Given the description of an element on the screen output the (x, y) to click on. 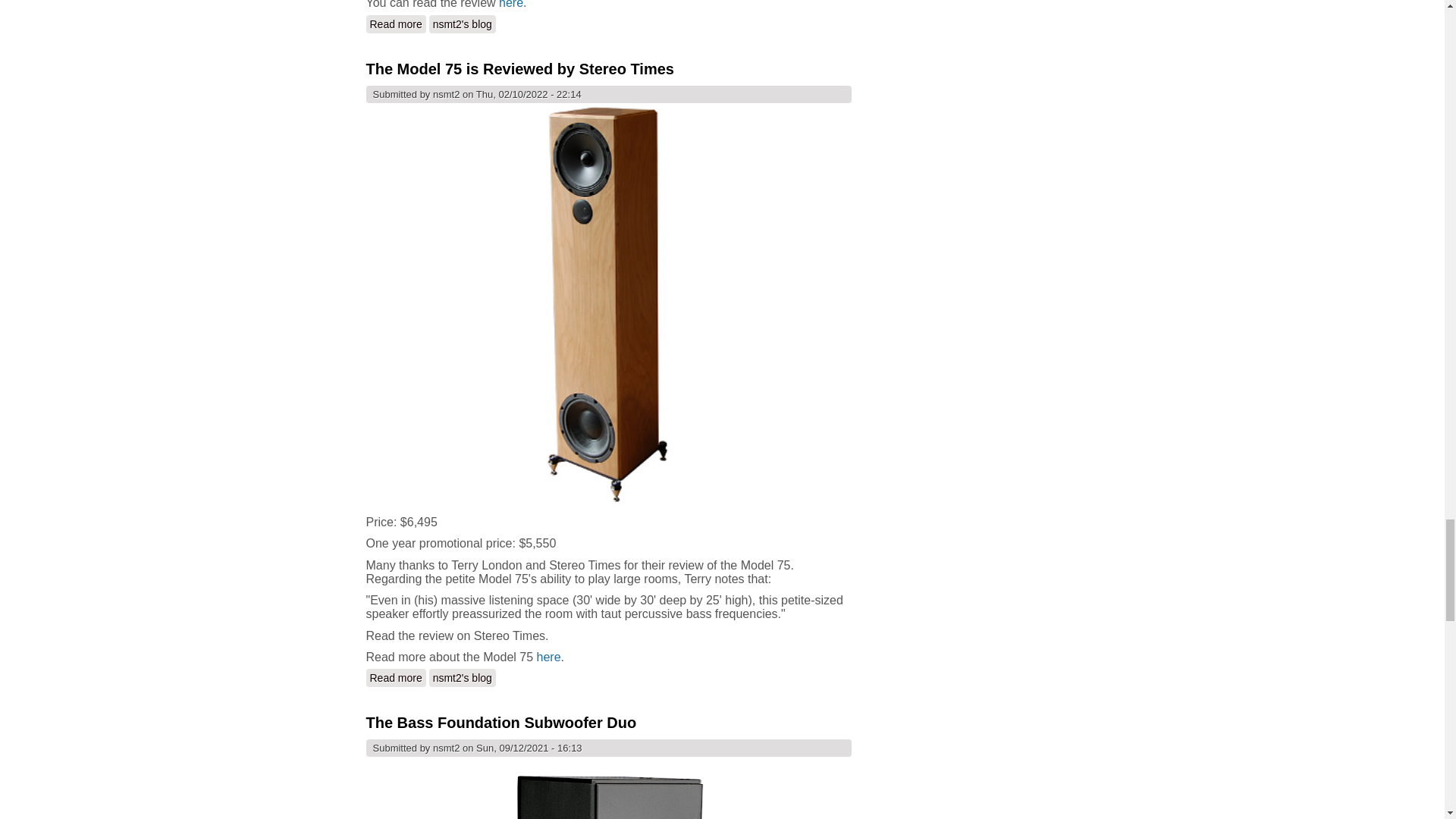
here (510, 4)
